Given the description of an element on the screen output the (x, y) to click on. 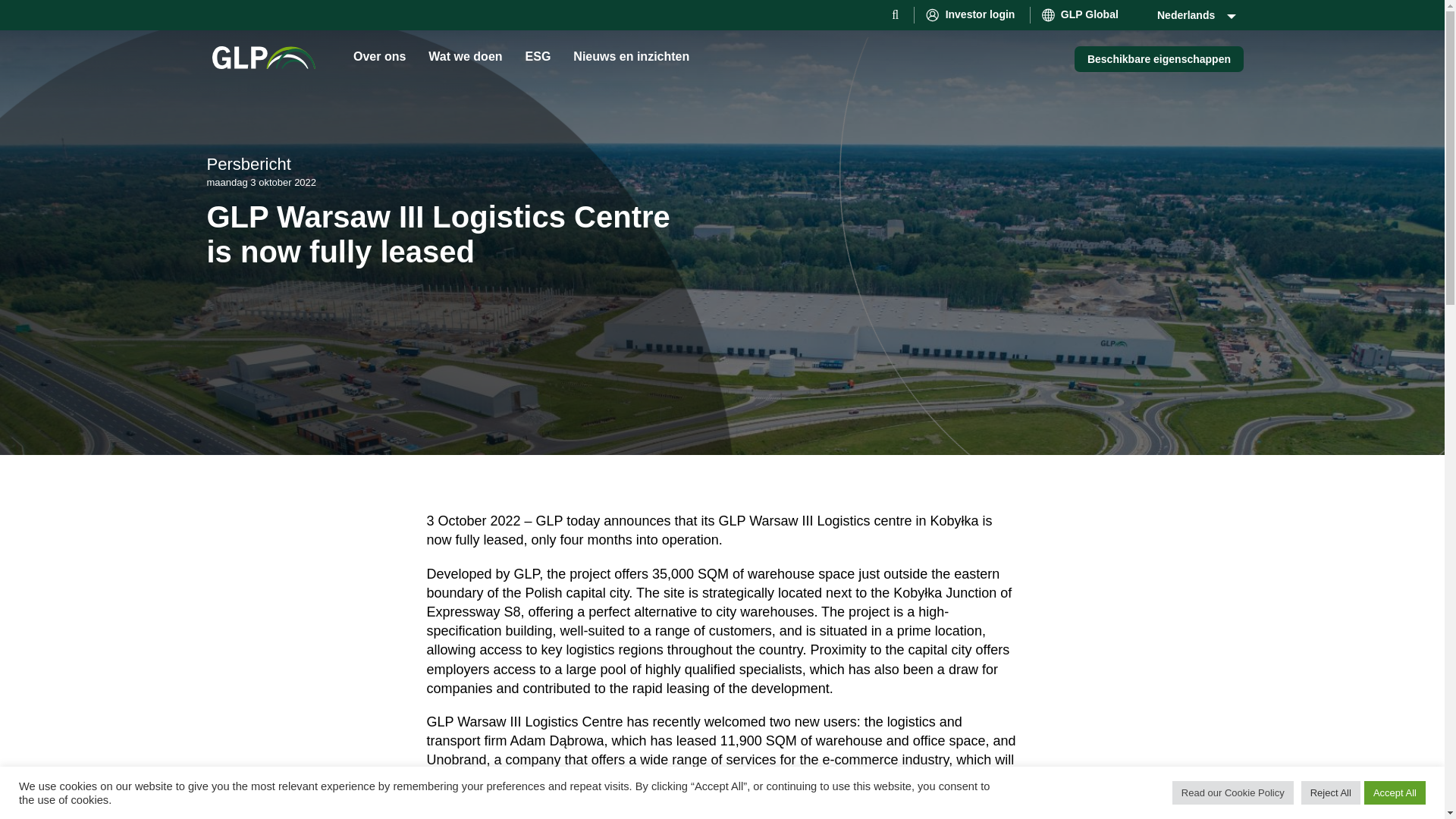
ESG (538, 56)
Over ons (379, 56)
Nieuws en inzichten (630, 56)
Investor login (971, 14)
GLP Global (1081, 14)
Wat we doen (465, 56)
